Given the description of an element on the screen output the (x, y) to click on. 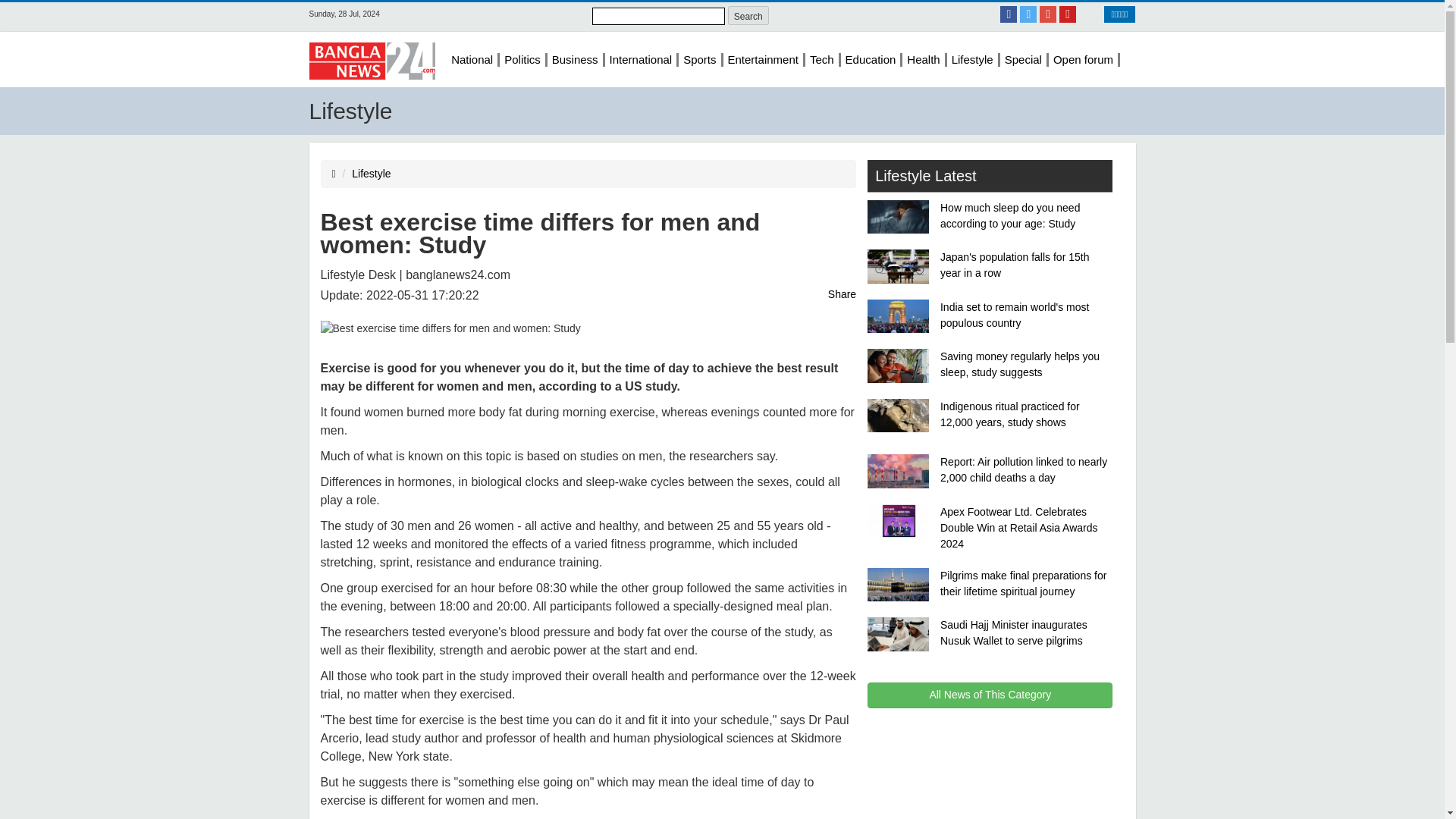
National (472, 59)
Lifestyle (973, 59)
Health (924, 59)
Tech (823, 59)
Find us at Facebook (1008, 13)
Search (748, 15)
Type Search text (658, 16)
Share (842, 294)
All News of This Category (989, 695)
Search (748, 15)
Politics (523, 59)
Education (871, 59)
Sports (700, 59)
Special (1024, 59)
Find us on Youtube (1067, 13)
